Given the description of an element on the screen output the (x, y) to click on. 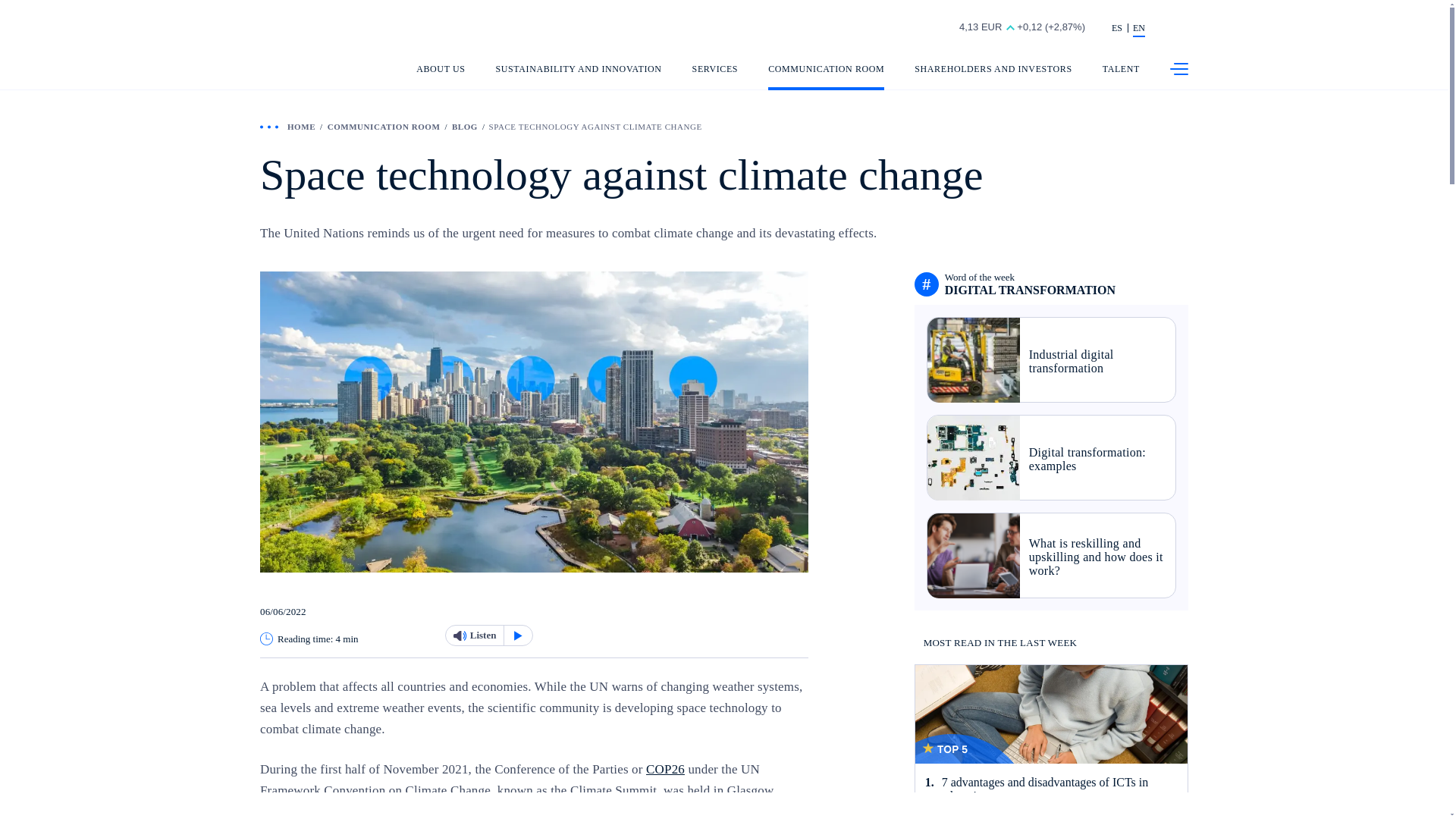
Info BME (1005, 28)
EN (1138, 29)
Word of the week (1029, 284)
SUSTAINABILITY AND INNOVATION (579, 76)
Listen to this page with ReadSpeaker webReader (488, 635)
ES (1117, 29)
ABOUT US (440, 76)
